Given the description of an element on the screen output the (x, y) to click on. 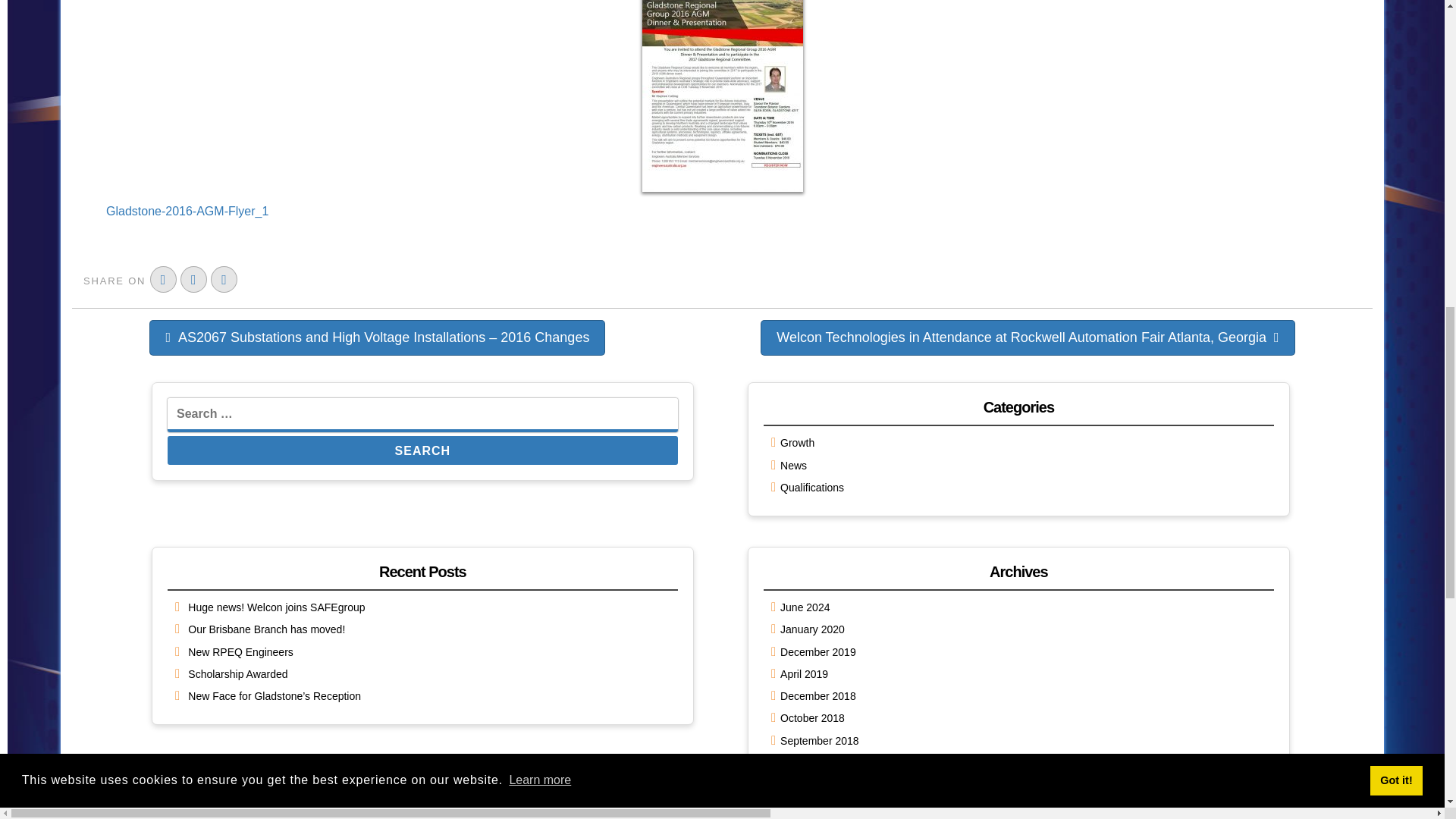
Search (422, 450)
Search (422, 450)
